Given the description of an element on the screen output the (x, y) to click on. 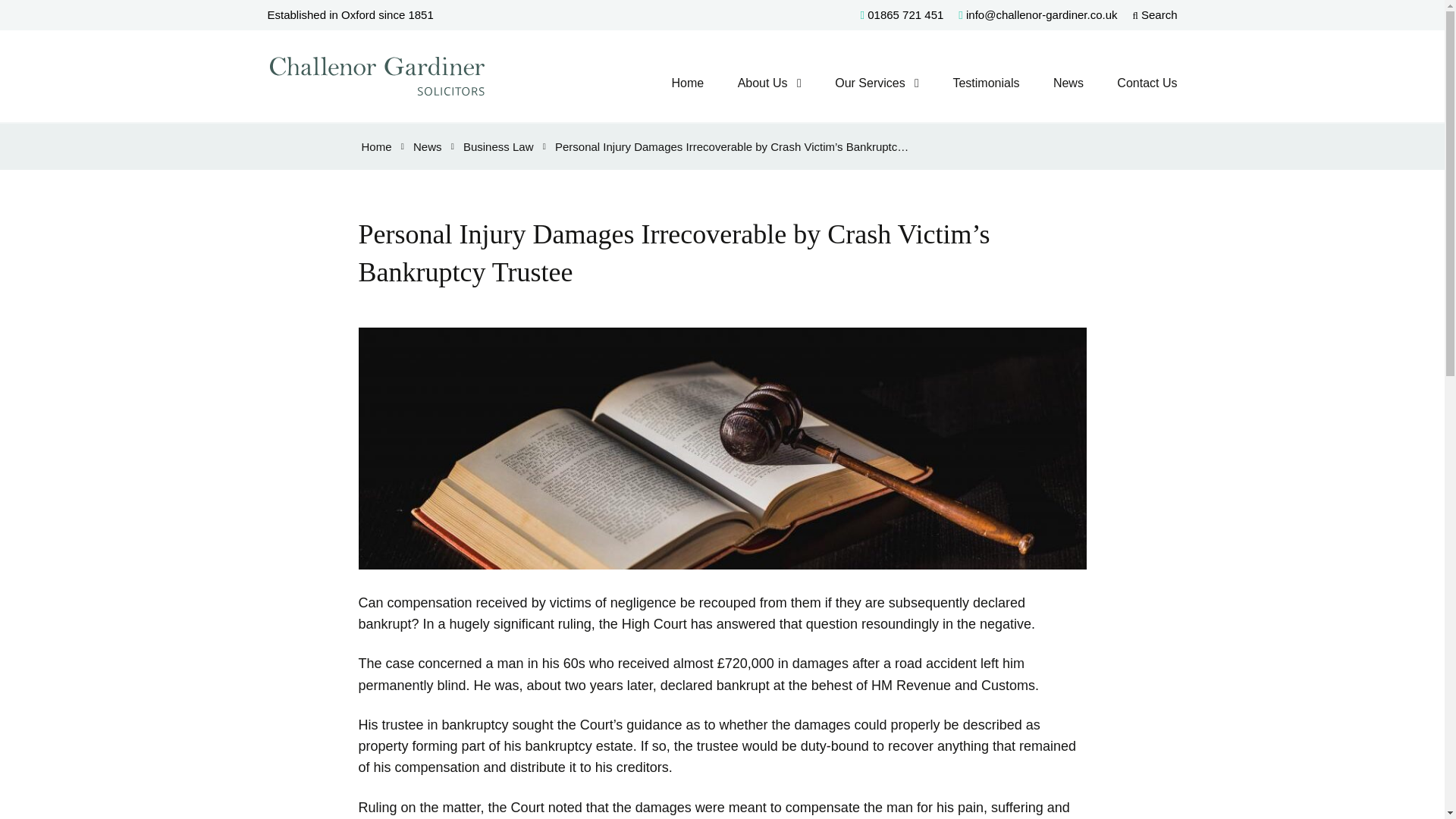
Home (687, 83)
About Us (762, 83)
Contact Us (1146, 83)
Our Services (869, 83)
01865 721 451 (901, 14)
Search (1154, 14)
Testimonials (985, 83)
Home (376, 146)
Go to News. (427, 146)
Go to Home. (376, 146)
Go to the Business Law category archives. (498, 146)
News (1067, 83)
